Given the description of an element on the screen output the (x, y) to click on. 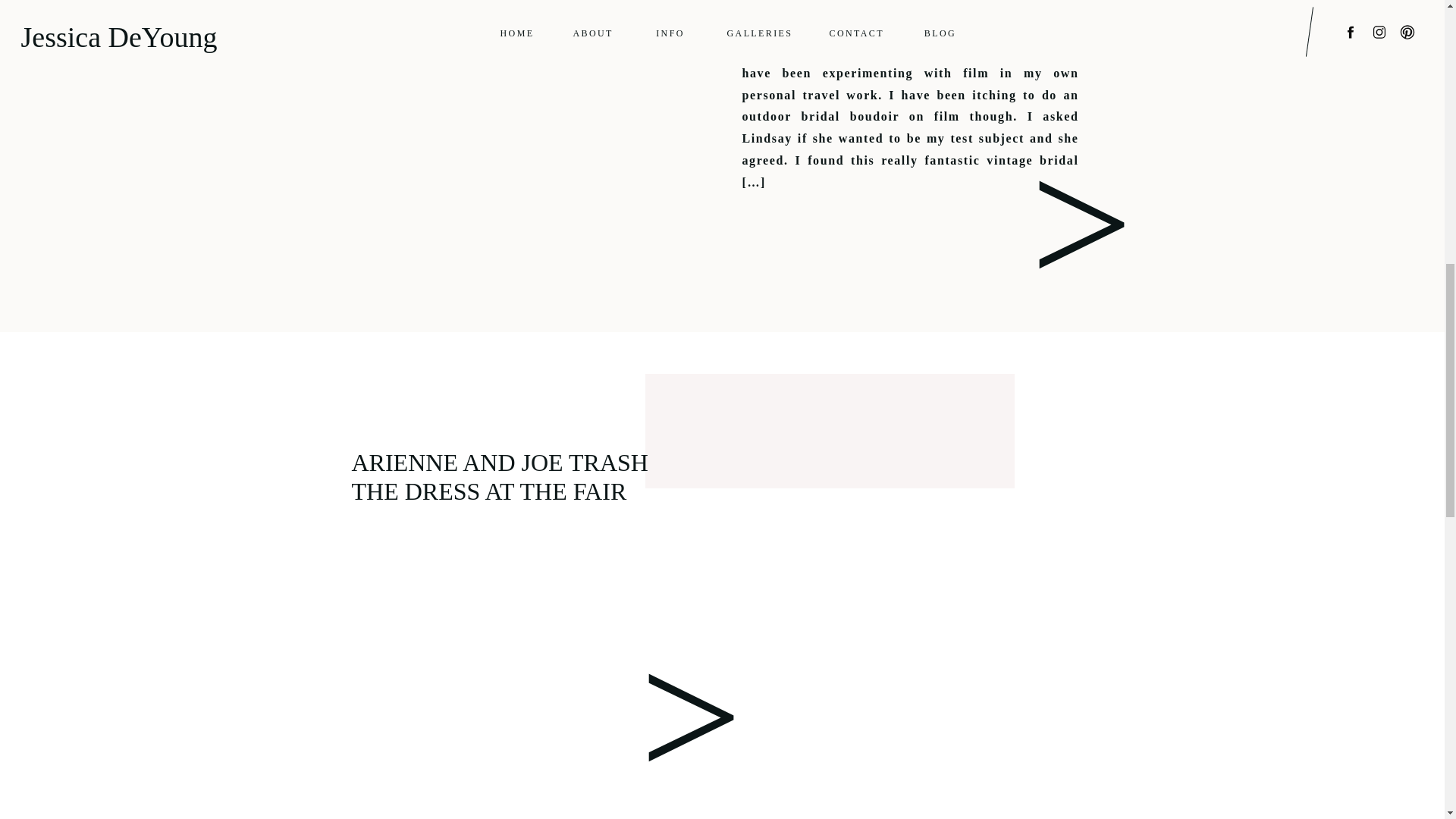
ARIENNE AND JOE TRASH THE DRESS AT THE FAIR (499, 476)
Arienne and Joe Trash the Dress at the Fair (664, 721)
